Given the description of an element on the screen output the (x, y) to click on. 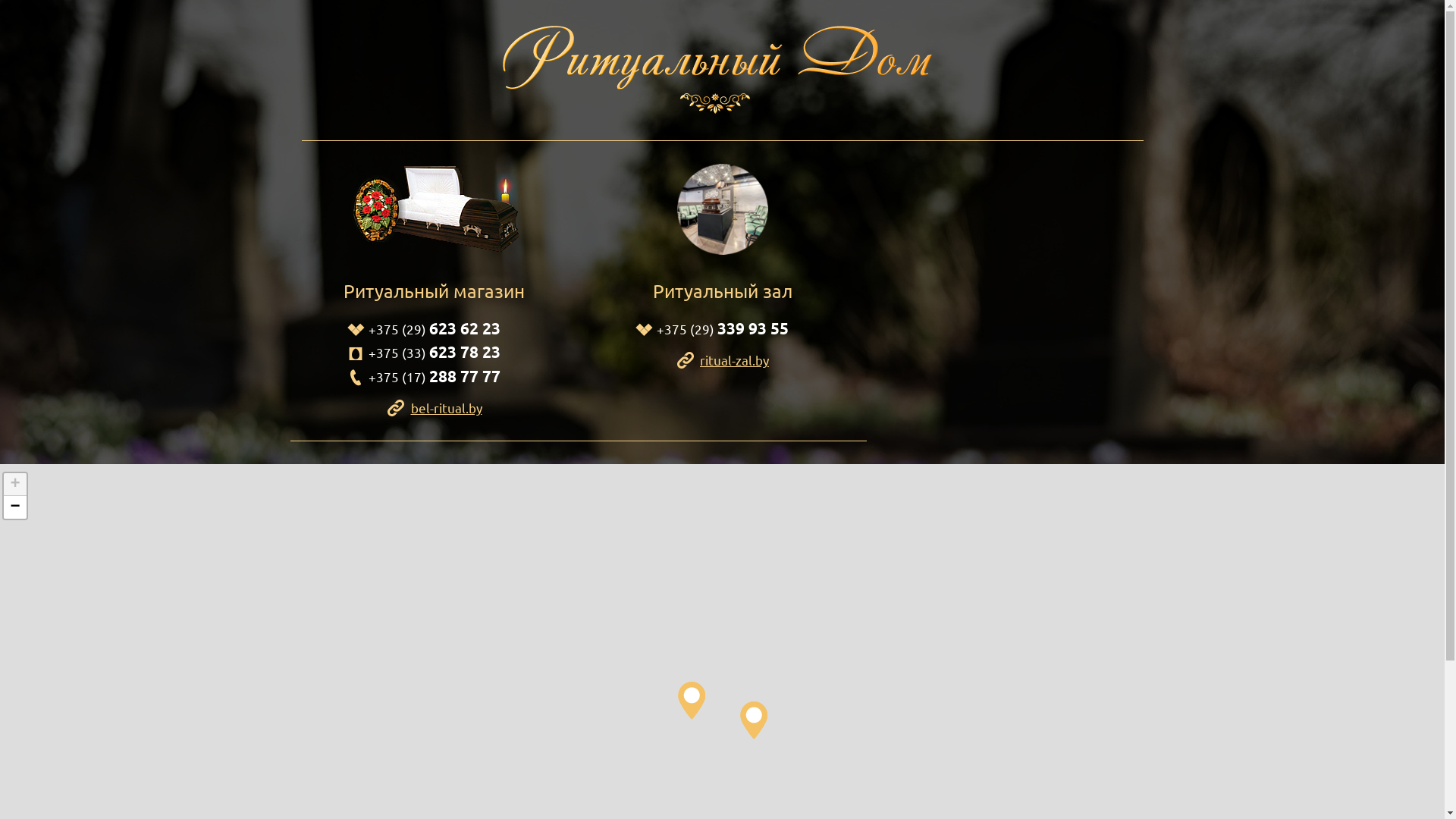
+ Element type: text (14, 484)
+375 (33) 623 78 23 Element type: text (434, 352)
bel-ritual.by Element type: text (434, 407)
+375 (29) 339 93 55 Element type: text (722, 328)
+375 (17) 288 77 77 Element type: text (434, 376)
+375 (29) 623 62 23 Element type: text (434, 328)
ritual-zal.by Element type: text (721, 360)
